Given the description of an element on the screen output the (x, y) to click on. 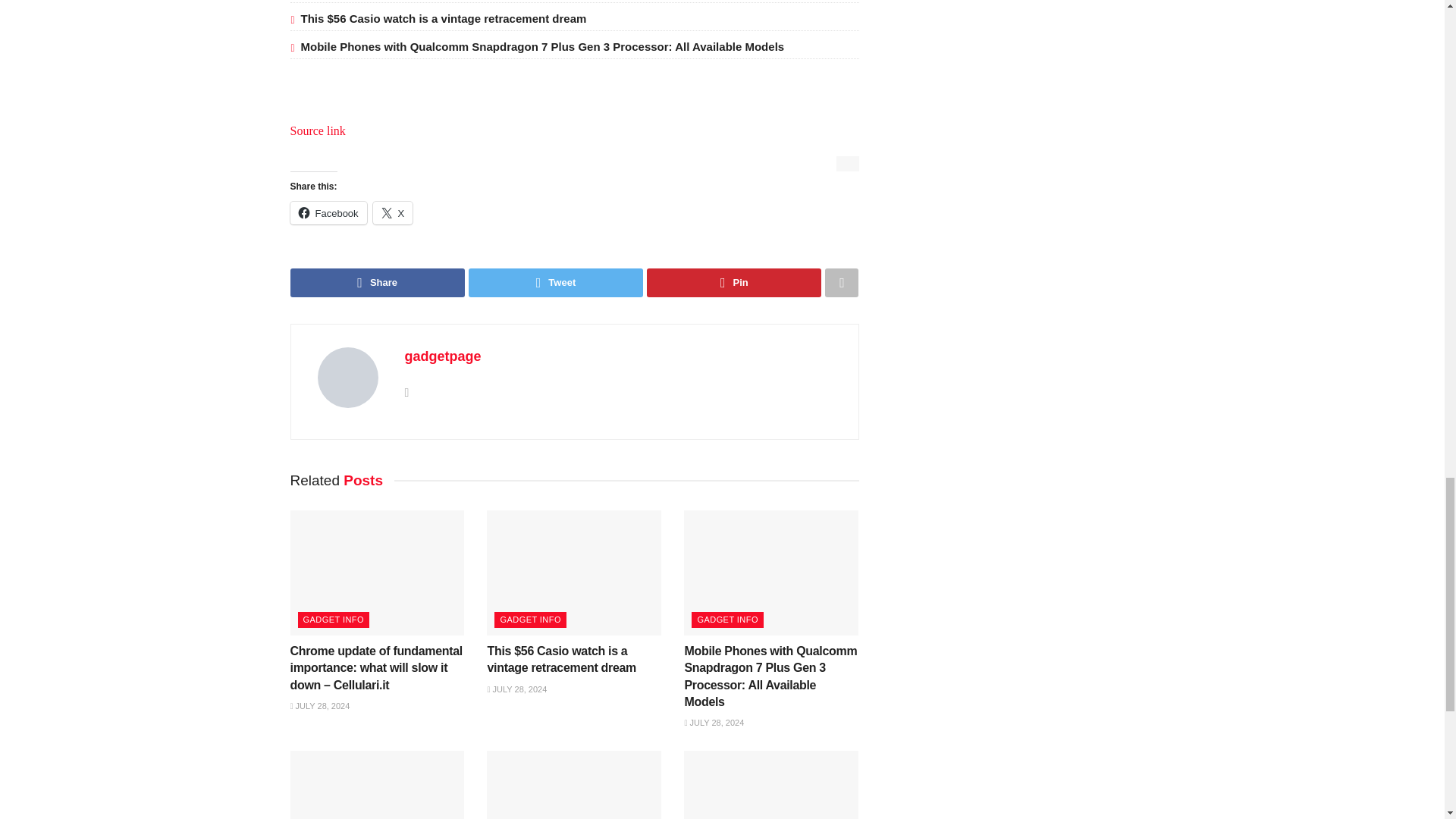
Click to share on Facebook (327, 212)
Share (376, 282)
Click to share on X (392, 212)
X (392, 212)
Pin (733, 282)
Source link (317, 130)
Facebook (327, 212)
Tweet (555, 282)
